Given the description of an element on the screen output the (x, y) to click on. 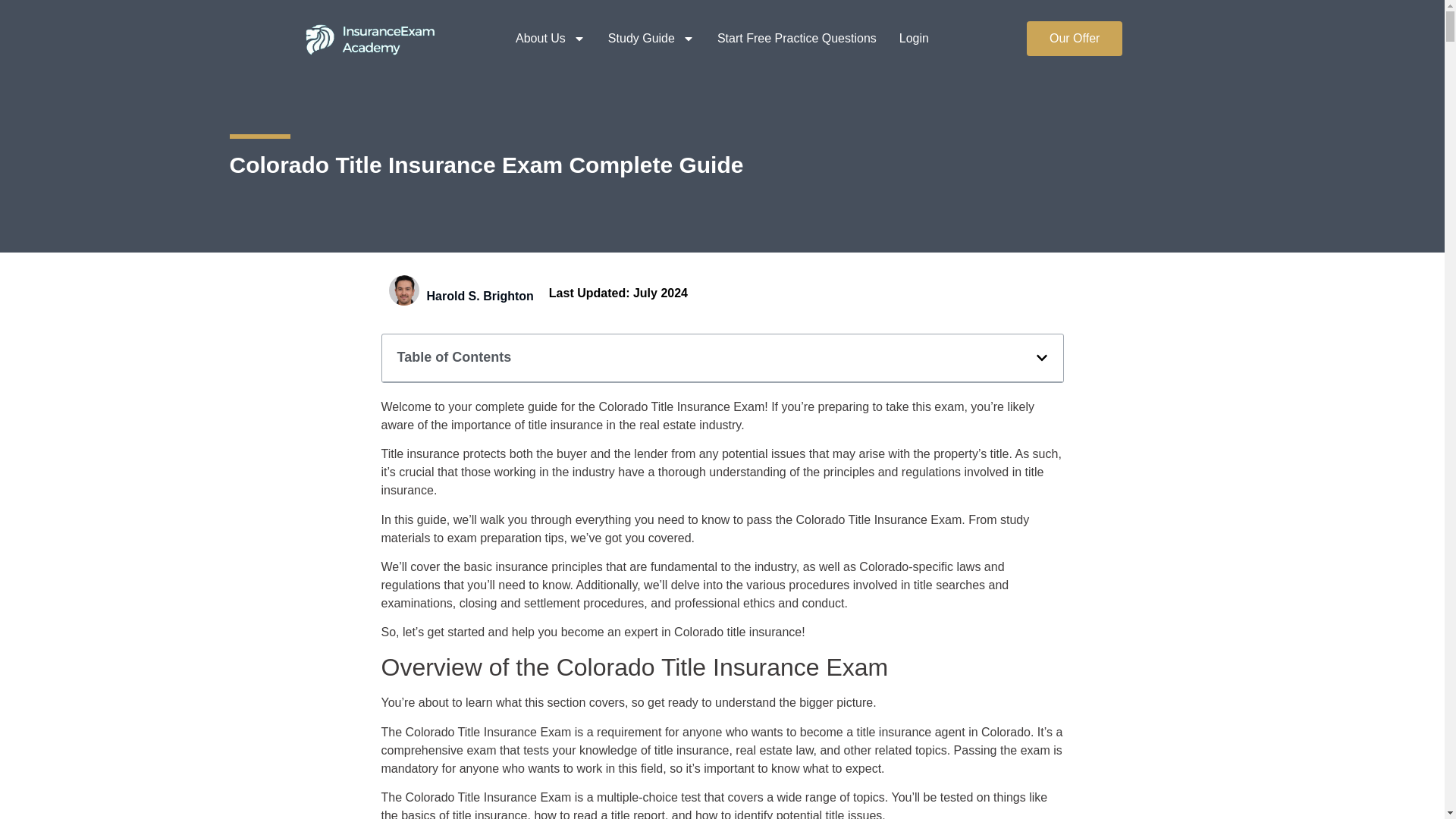
Our Offer (1074, 38)
Start Free Practice Questions (796, 32)
Login (913, 32)
Study Guide (651, 12)
About Us (550, 8)
